Given the description of an element on the screen output the (x, y) to click on. 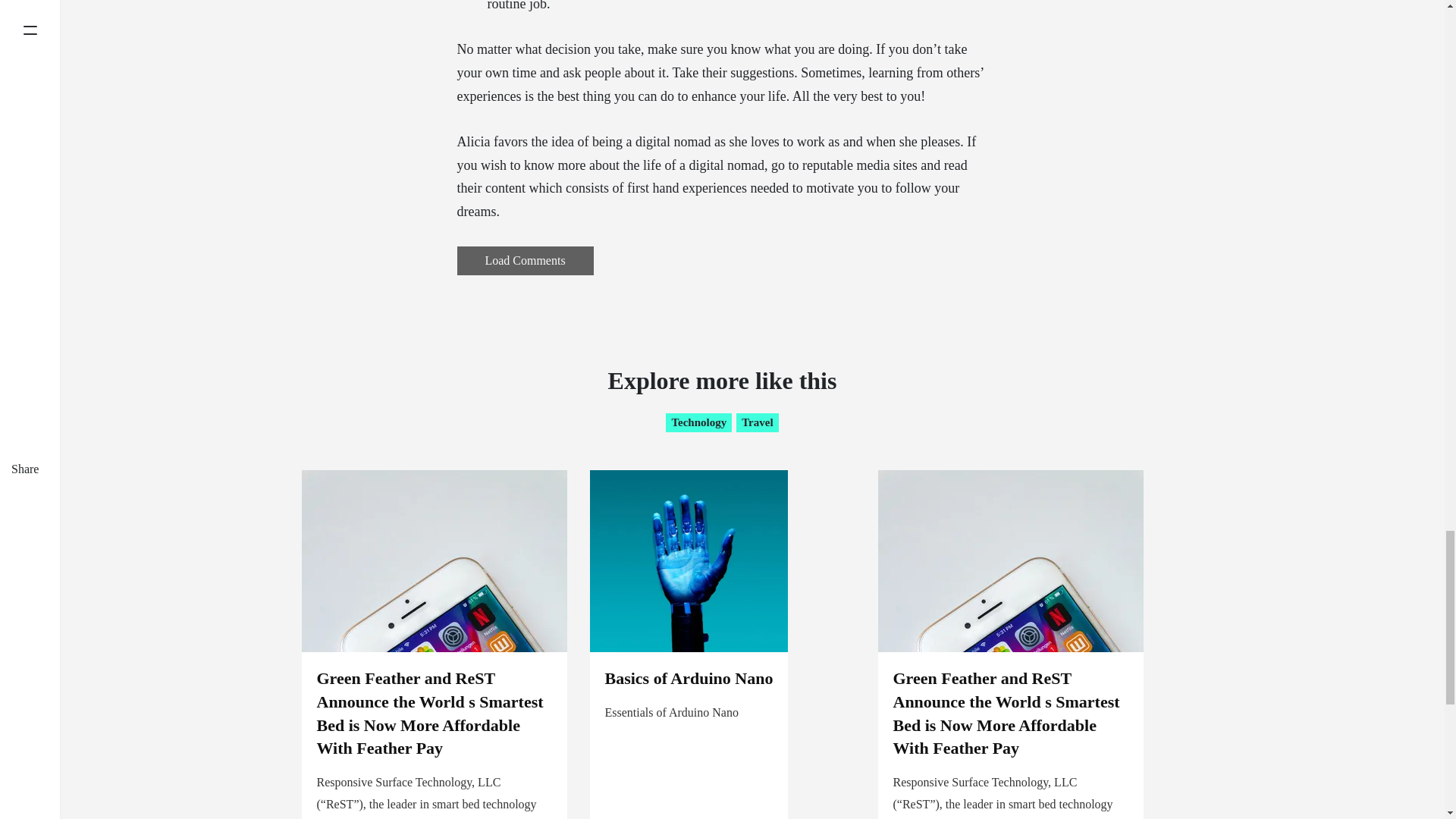
Technology (698, 422)
Travel (756, 422)
Basics of Arduino Nano (689, 678)
Load Comments (524, 260)
Travel (756, 422)
Technology (698, 422)
